Given the description of an element on the screen output the (x, y) to click on. 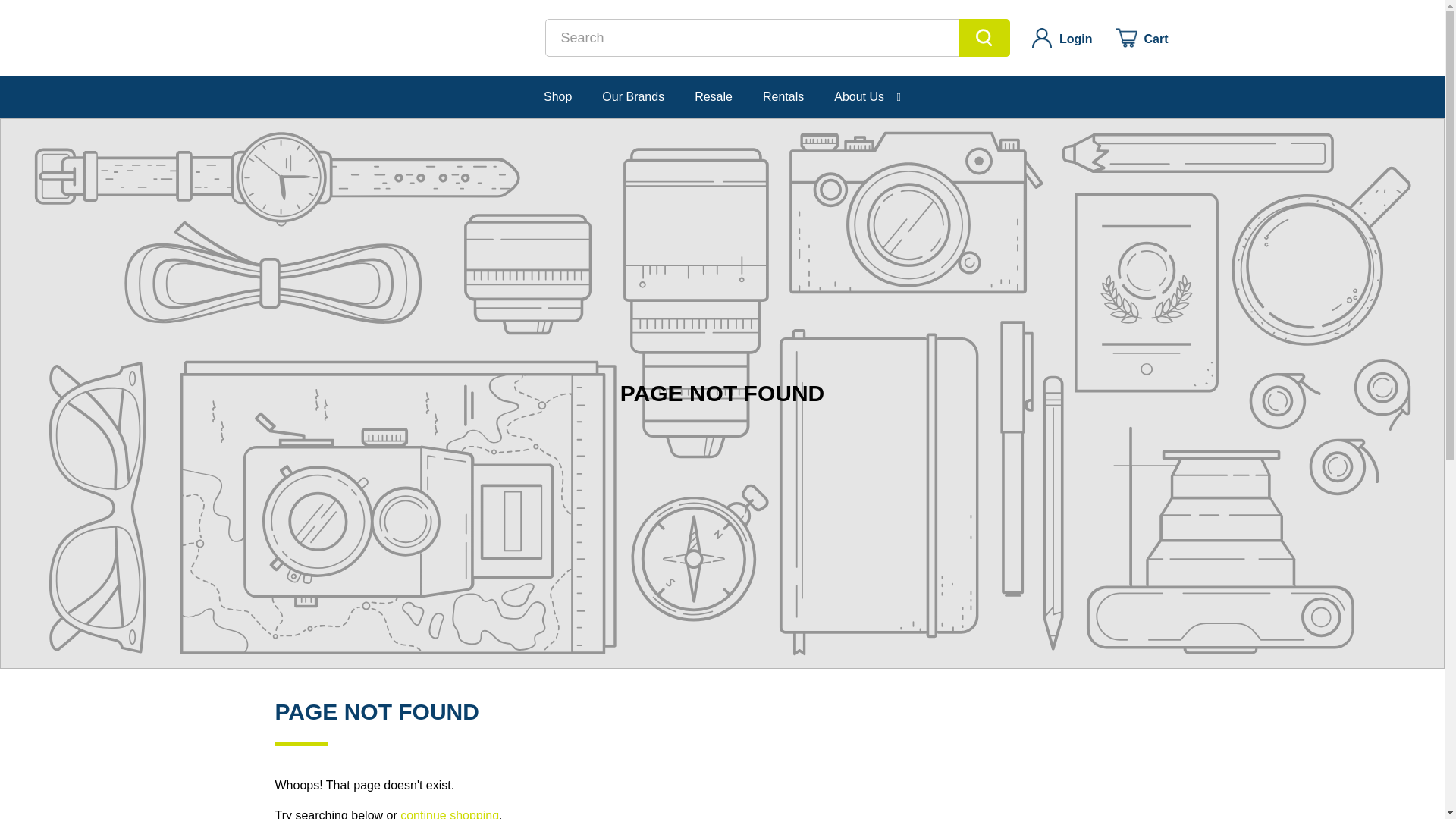
SOKO Outfitters (374, 37)
continue shopping (449, 814)
Our Brands (632, 96)
Login (1061, 38)
Resale (713, 96)
Cart (1141, 38)
Rentals (782, 96)
About Us (867, 96)
